Given the description of an element on the screen output the (x, y) to click on. 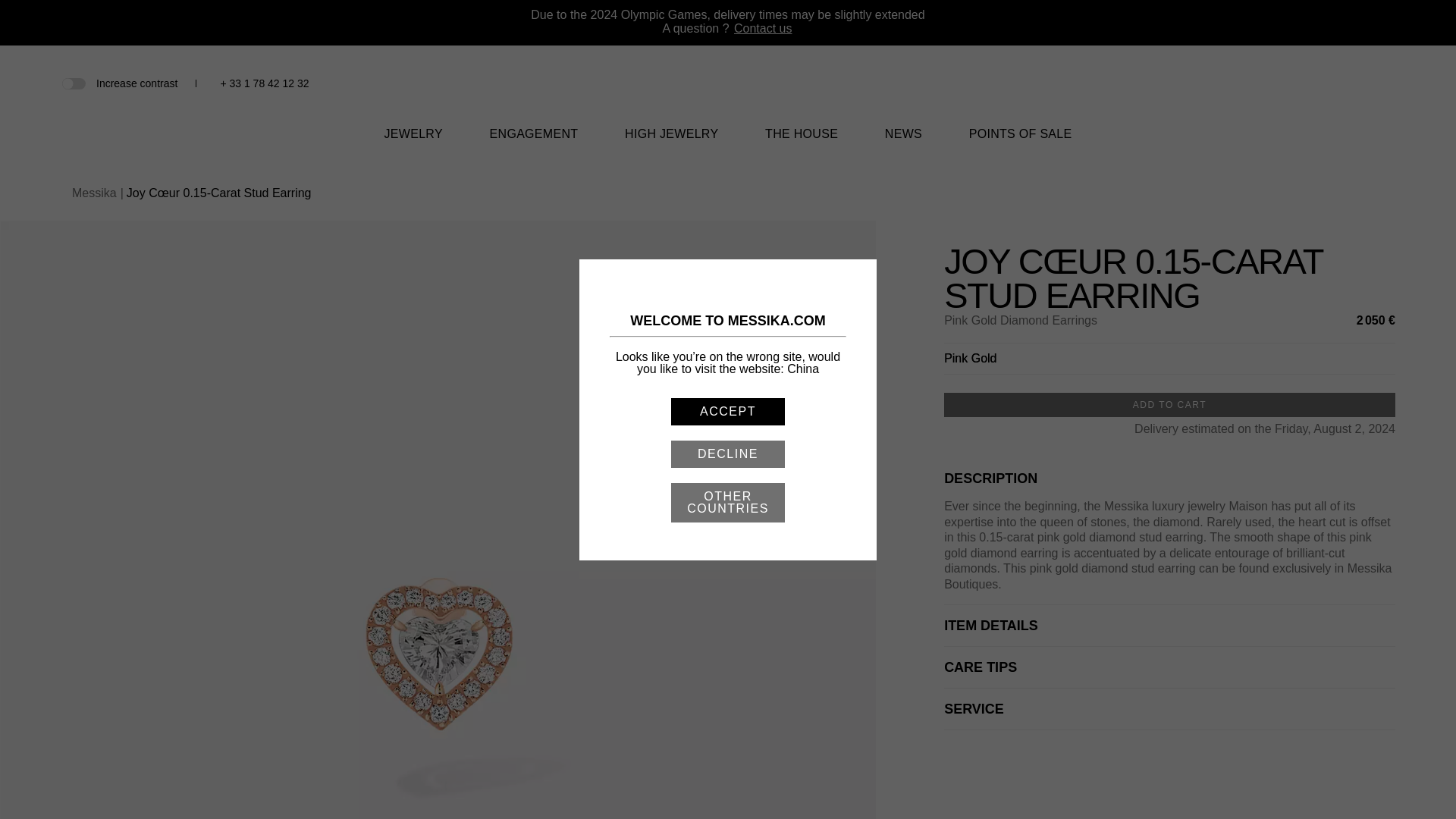
Opens a widget where you can find more information (1398, 792)
on (73, 82)
Contact us (762, 28)
Search (1310, 84)
Shopping Cart (1360, 84)
Messika (727, 92)
Wishlist (1335, 83)
Messika (727, 103)
JEWELRY (413, 142)
Wishlist (1335, 84)
